Given the description of an element on the screen output the (x, y) to click on. 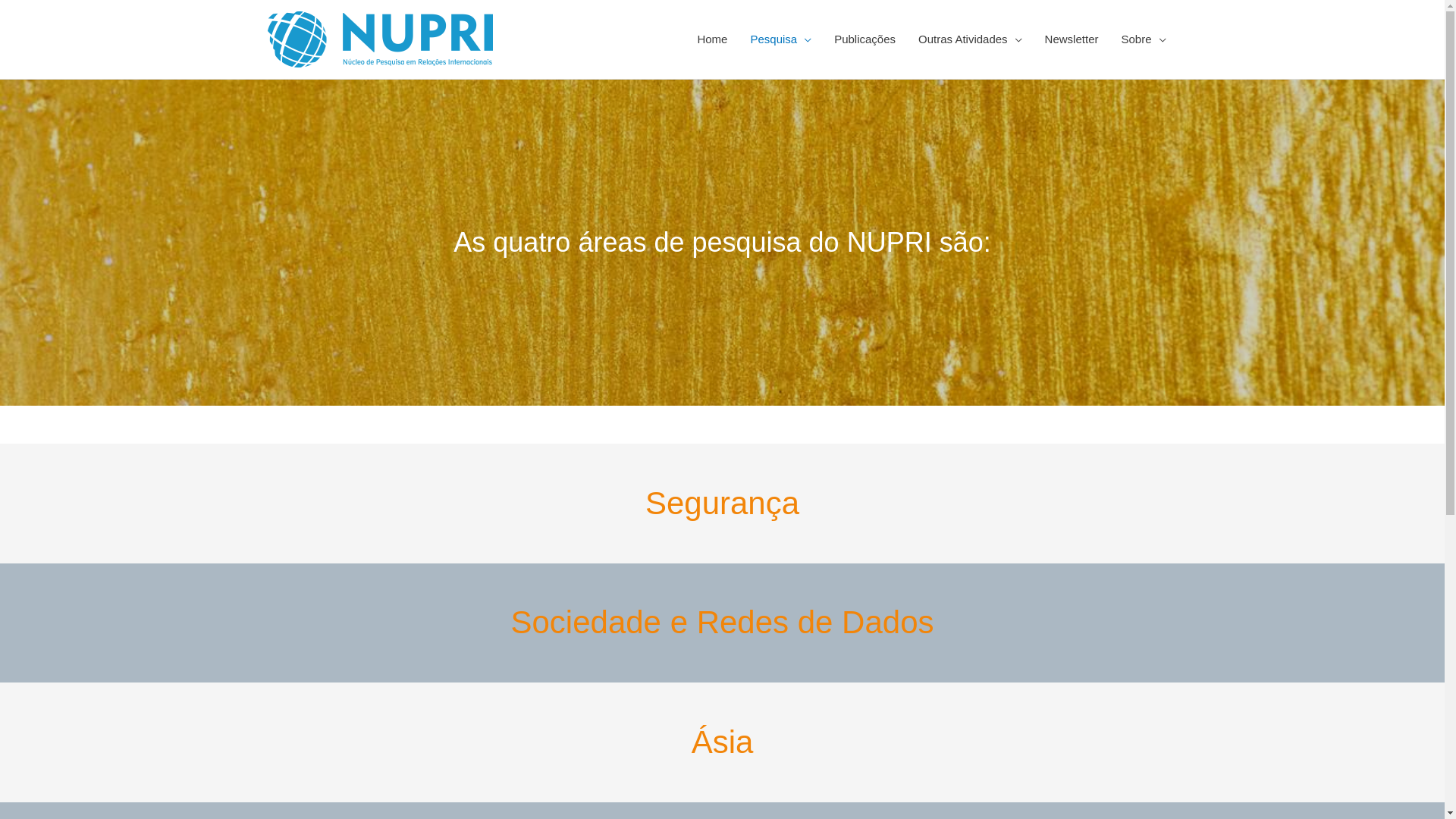
Outras Atividades Element type: text (969, 39)
Newsletter Element type: text (1071, 39)
Home Element type: text (711, 39)
Sociedade e Redes de Dados Element type: text (721, 622)
Pesquisa Element type: text (780, 39)
Sobre Element type: text (1142, 39)
